Given the description of an element on the screen output the (x, y) to click on. 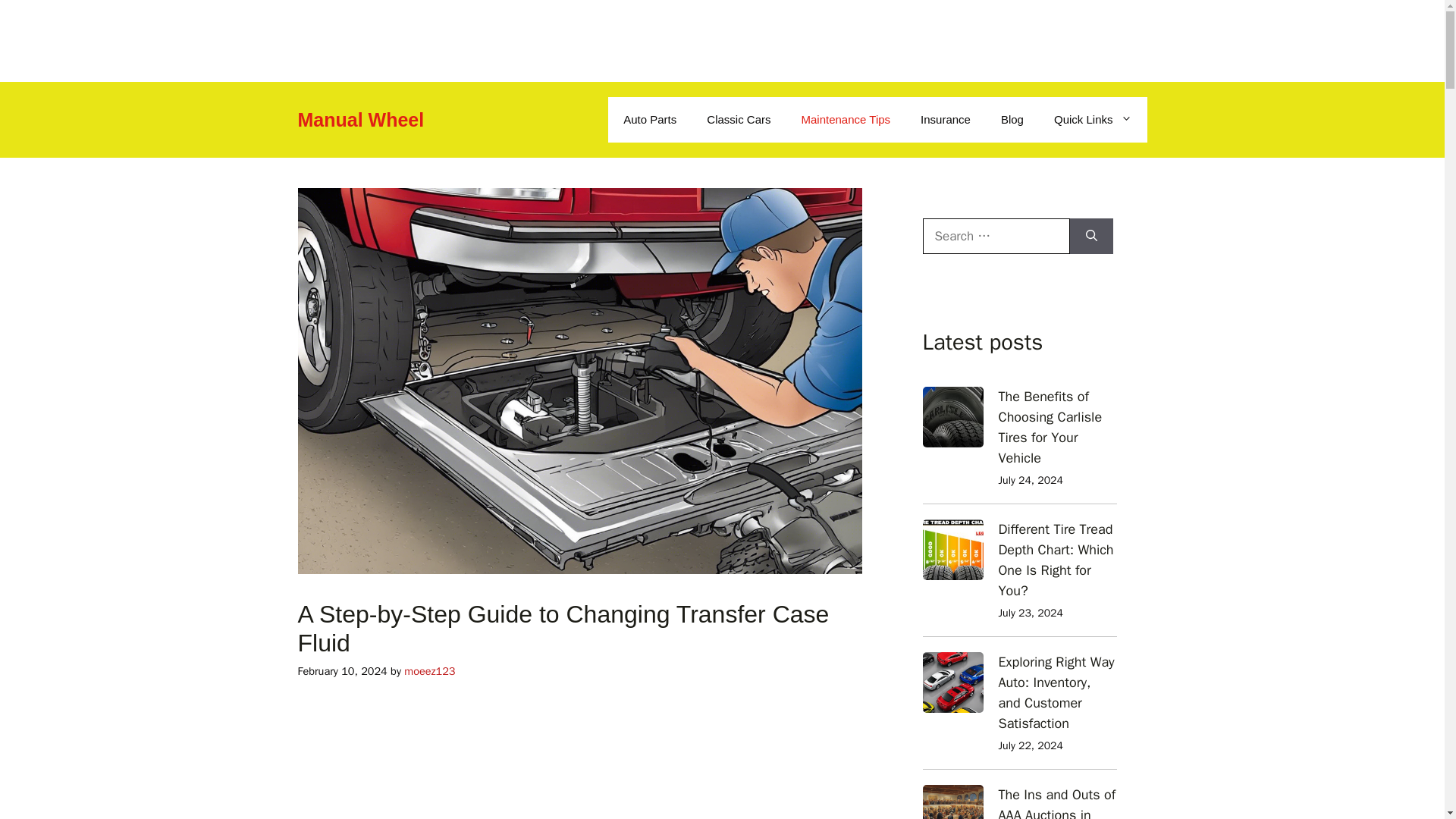
Quick Links (1093, 119)
View all posts by moeez123 (429, 671)
The Benefits of Choosing Carlisle Tires for Your Vehicle (1049, 427)
Advertisement (579, 762)
Maintenance Tips (845, 119)
Blog (1012, 119)
Classic Cars (738, 119)
Advertisement (121, 38)
Insurance (945, 119)
Manual Wheel (360, 119)
Auto Parts (649, 119)
moeez123 (429, 671)
